Given the description of an element on the screen output the (x, y) to click on. 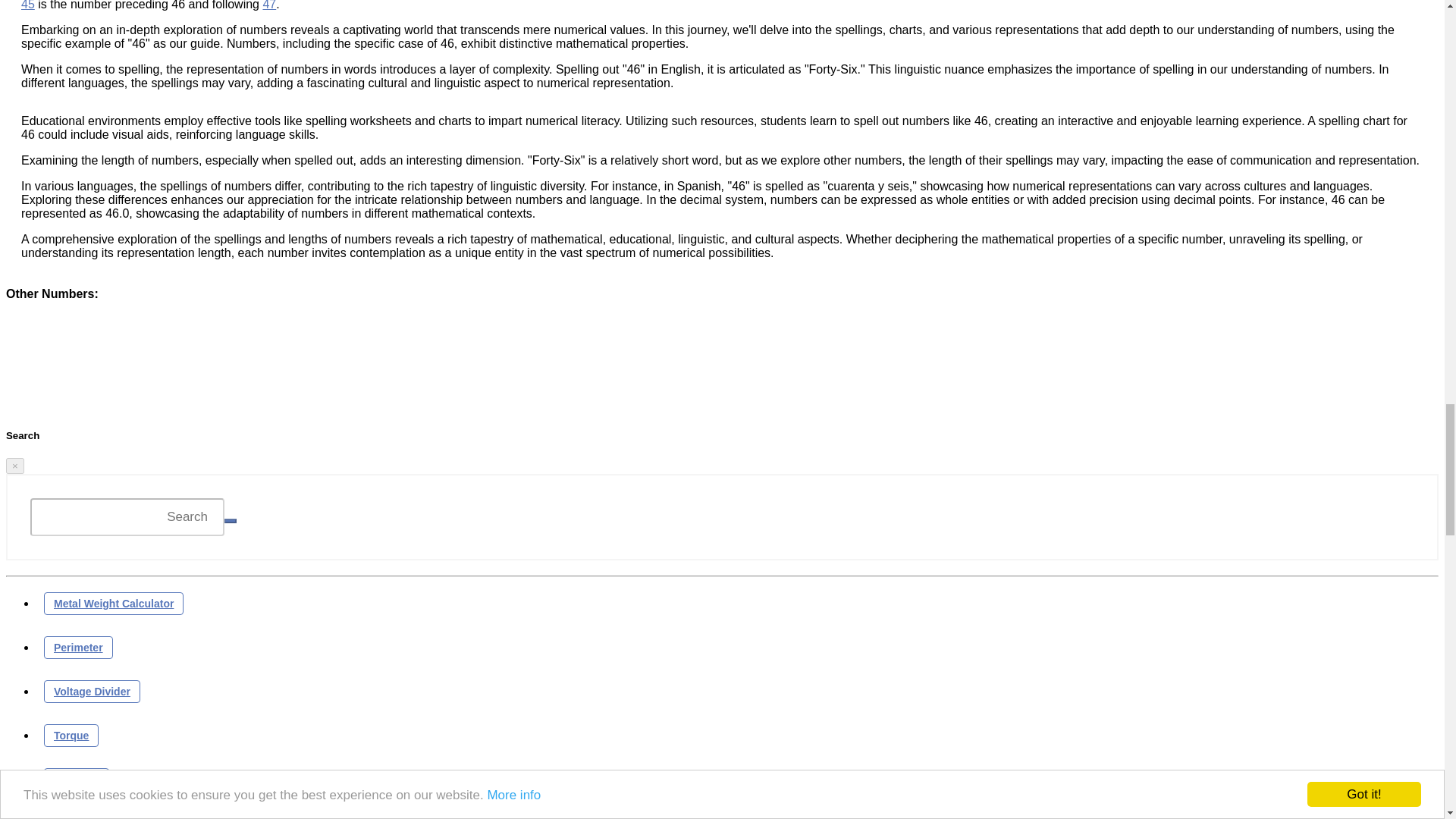
45 (27, 5)
47 (269, 5)
Torque (71, 734)
Pressure (76, 778)
Metal Weight Calculator (113, 602)
Perimeter (78, 646)
Voltage Divider (91, 690)
Pipe Velocity (86, 815)
